Given the description of an element on the screen output the (x, y) to click on. 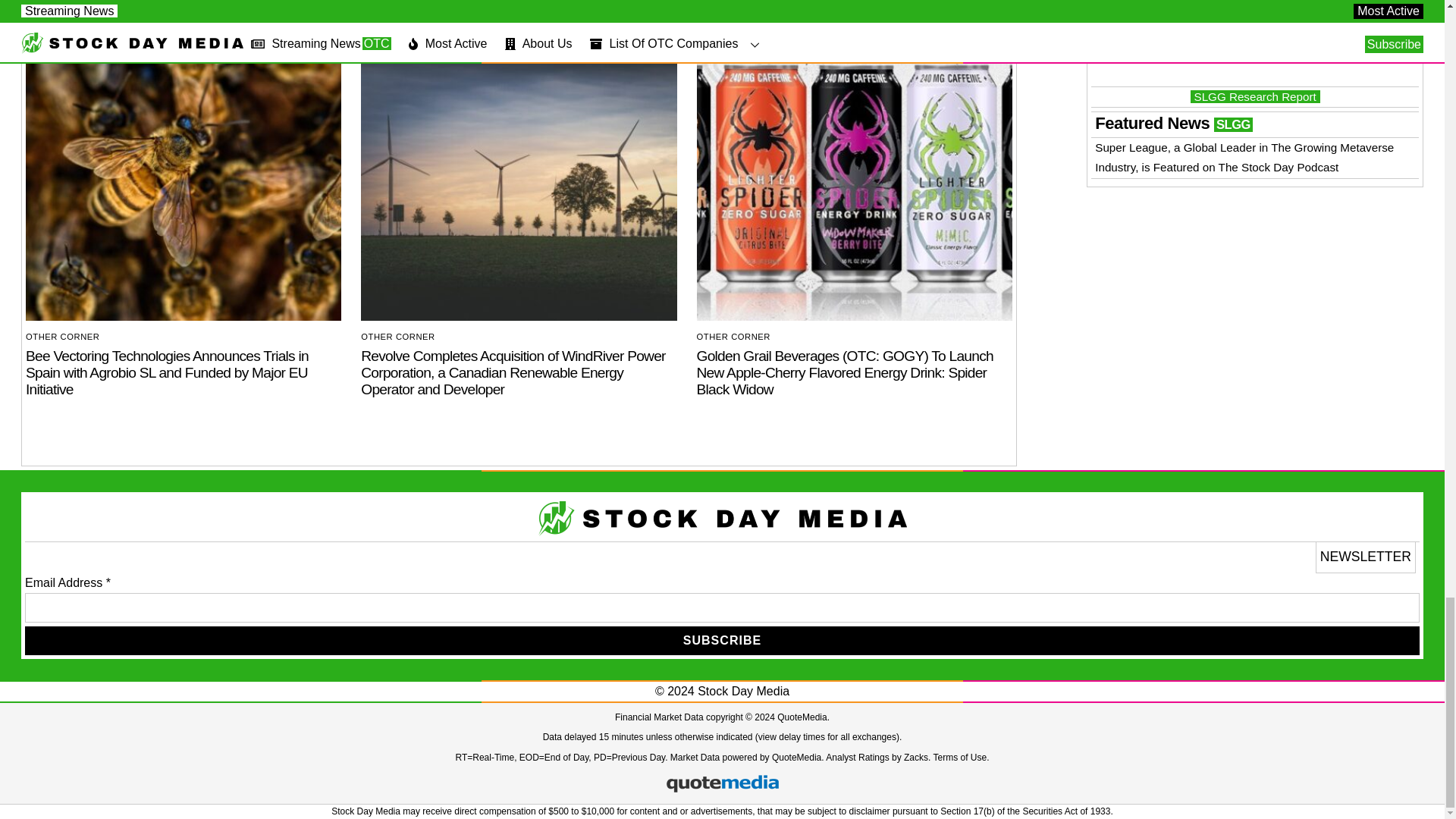
110A6142-5E67-4939-8520-7E19D6A21649 (854, 188)
Subscribe (721, 640)
23725A77-EA43-4778-9076-6332E72D1370 (519, 188)
9EC372FC-9E69-4603-9035-DCB9597C0308 (183, 188)
